Given the description of an element on the screen output the (x, y) to click on. 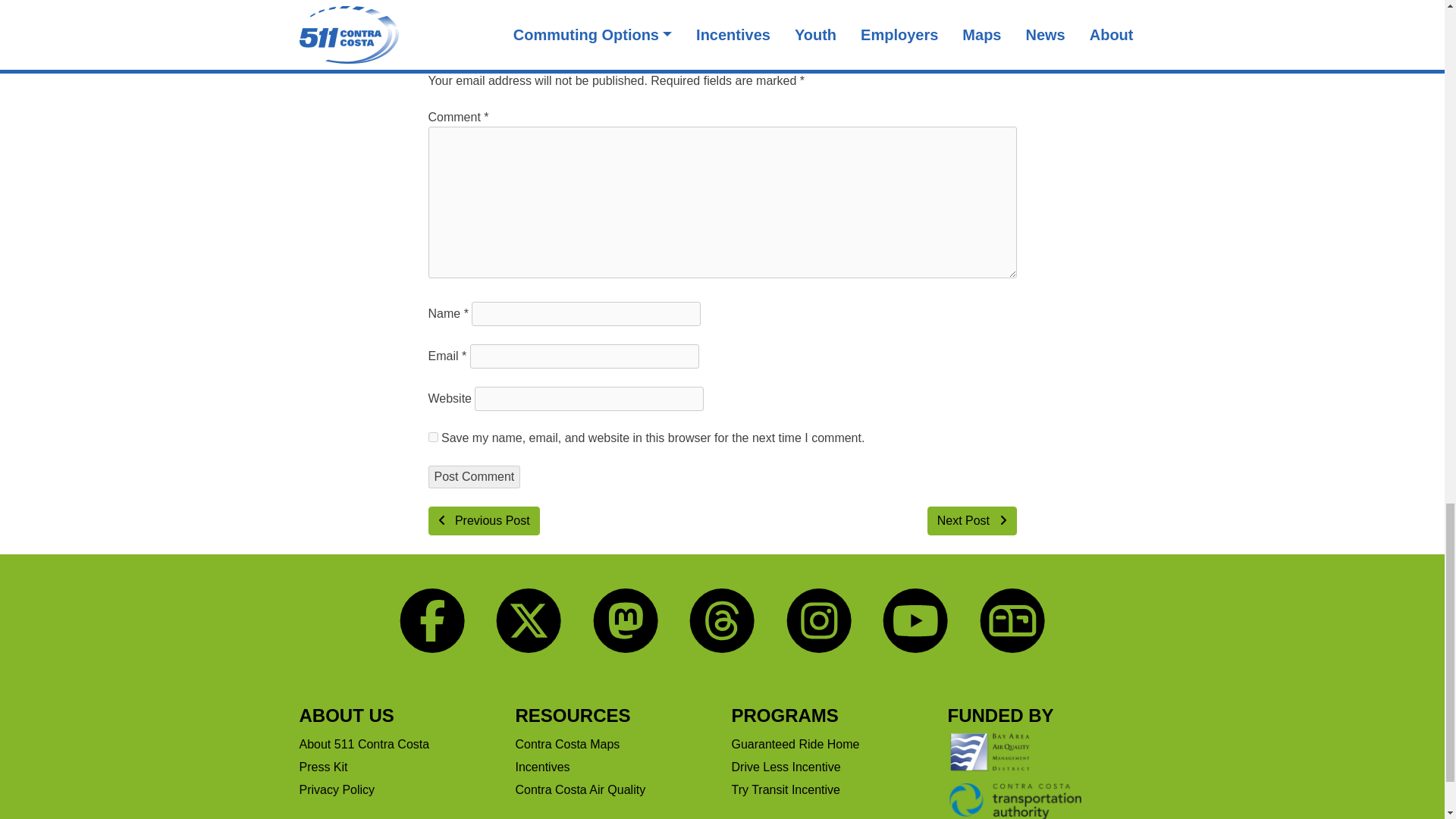
Post Comment (473, 477)
Next Post (971, 520)
yes (433, 437)
Previous Post (483, 520)
Post Comment (473, 477)
